Given the description of an element on the screen output the (x, y) to click on. 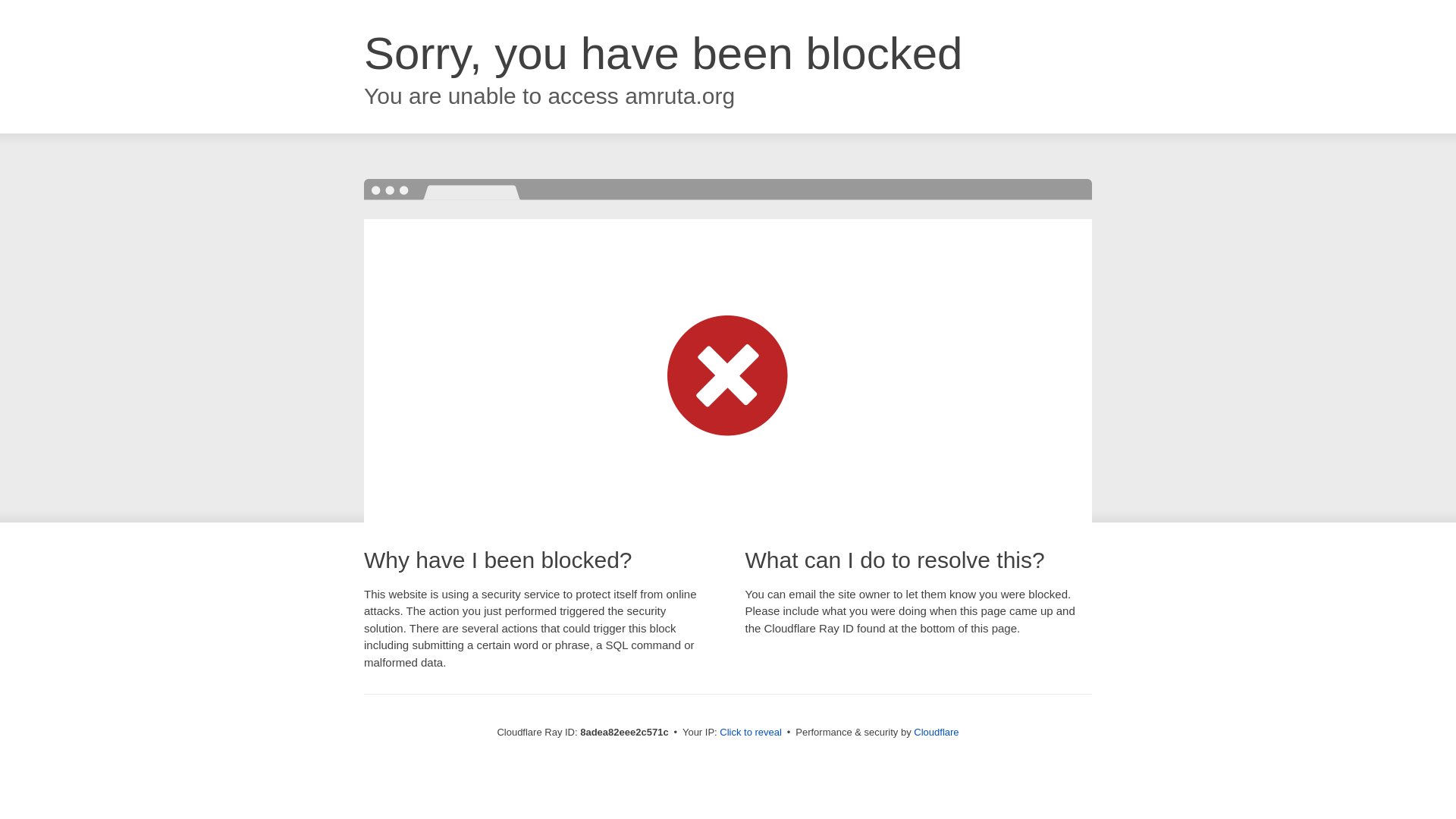
Cloudflare (936, 731)
Click to reveal (750, 732)
